Given the description of an element on the screen output the (x, y) to click on. 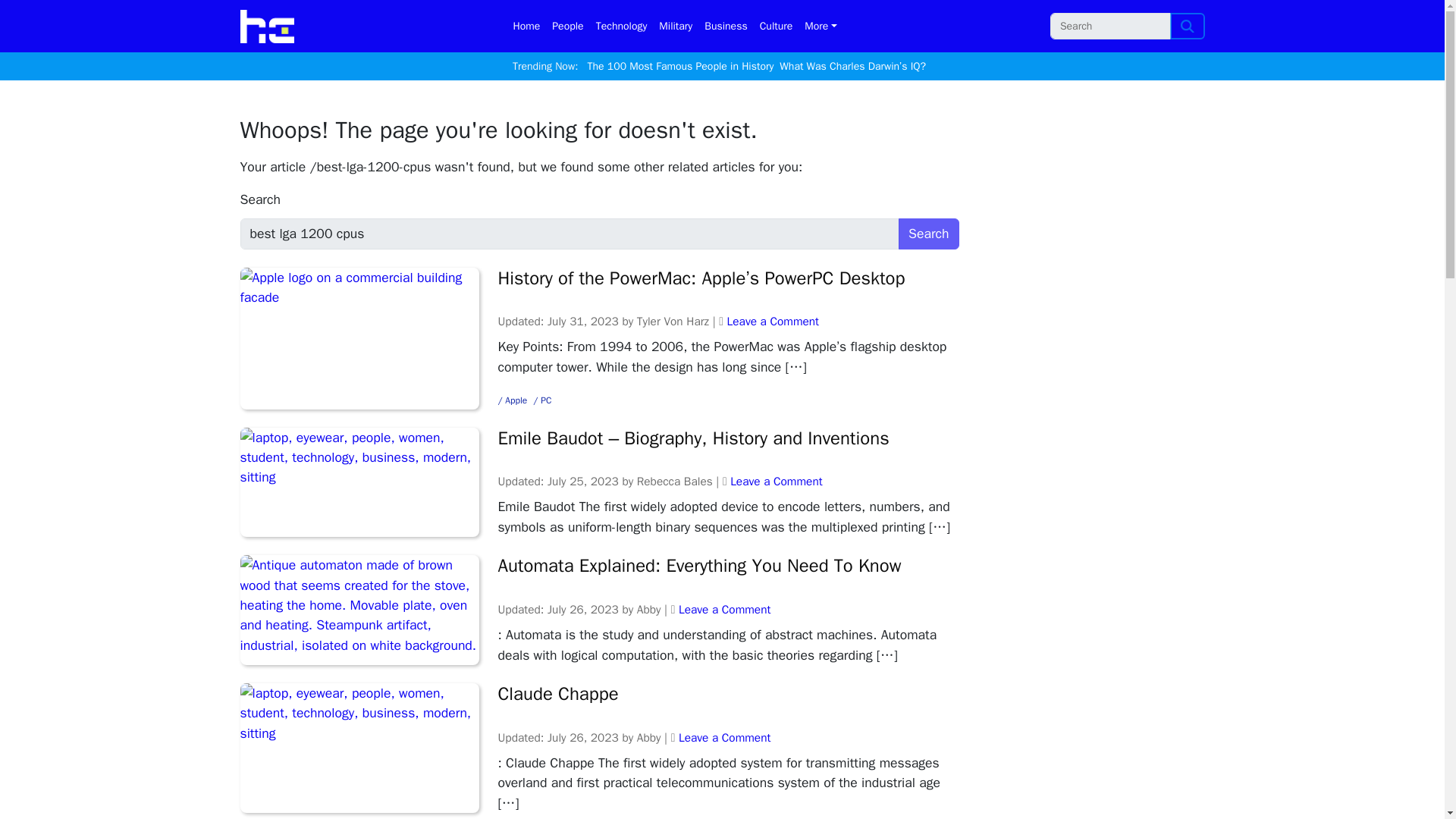
Claude Chappe (727, 694)
People (567, 26)
Search (1187, 26)
Leave a Comment (724, 609)
Leave a Comment (776, 481)
Abby (649, 609)
best lga 1200 cpus (569, 233)
Tyler Von Harz (673, 321)
Automata Explained: Everything You Need To Know (727, 566)
Military (675, 26)
